Given the description of an element on the screen output the (x, y) to click on. 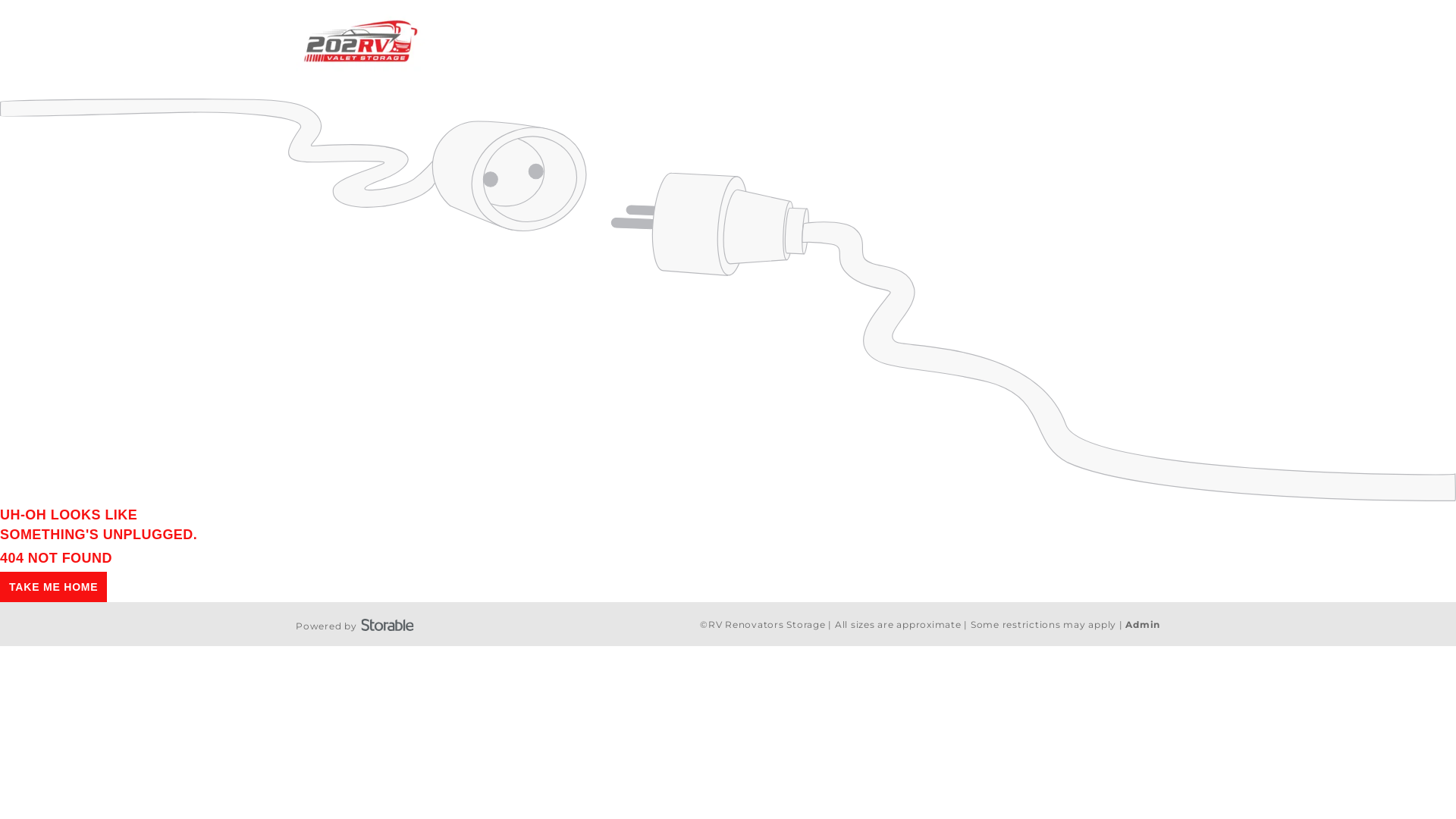
Admin Element type: text (1142, 624)
TAKE ME HOME Element type: text (53, 586)
Powered by Element type: text (354, 623)
202 RV Valet Storage logo Element type: hover (360, 41)
